Given the description of an element on the screen output the (x, y) to click on. 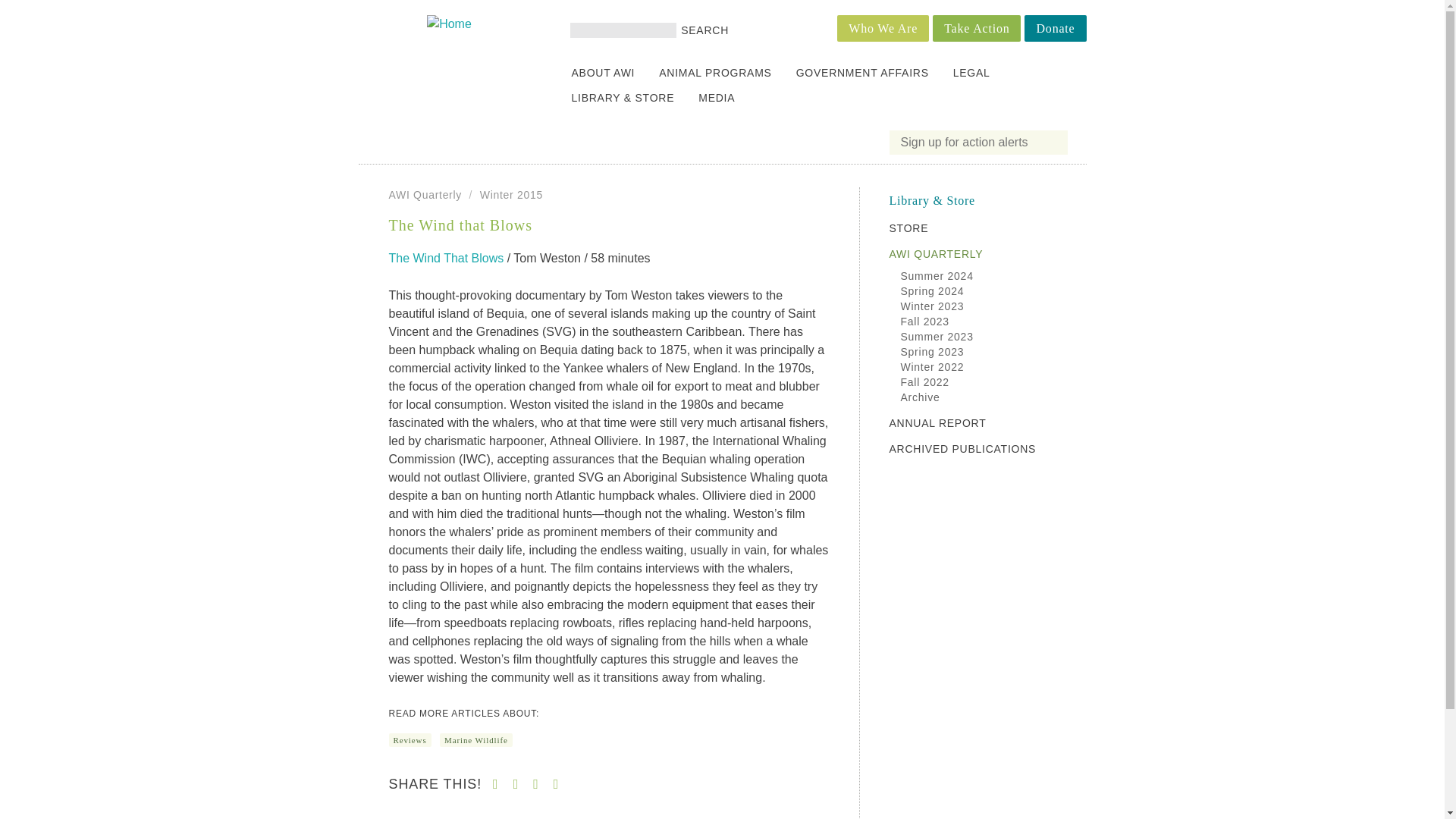
Search (705, 30)
Home (448, 23)
ABOUT AWI (603, 74)
Take Action (976, 28)
Who We Are (882, 28)
Search (705, 30)
Donate (1055, 28)
ANIMAL PROGRAMS (714, 74)
The Wind that Blows (445, 257)
